Given the description of an element on the screen output the (x, y) to click on. 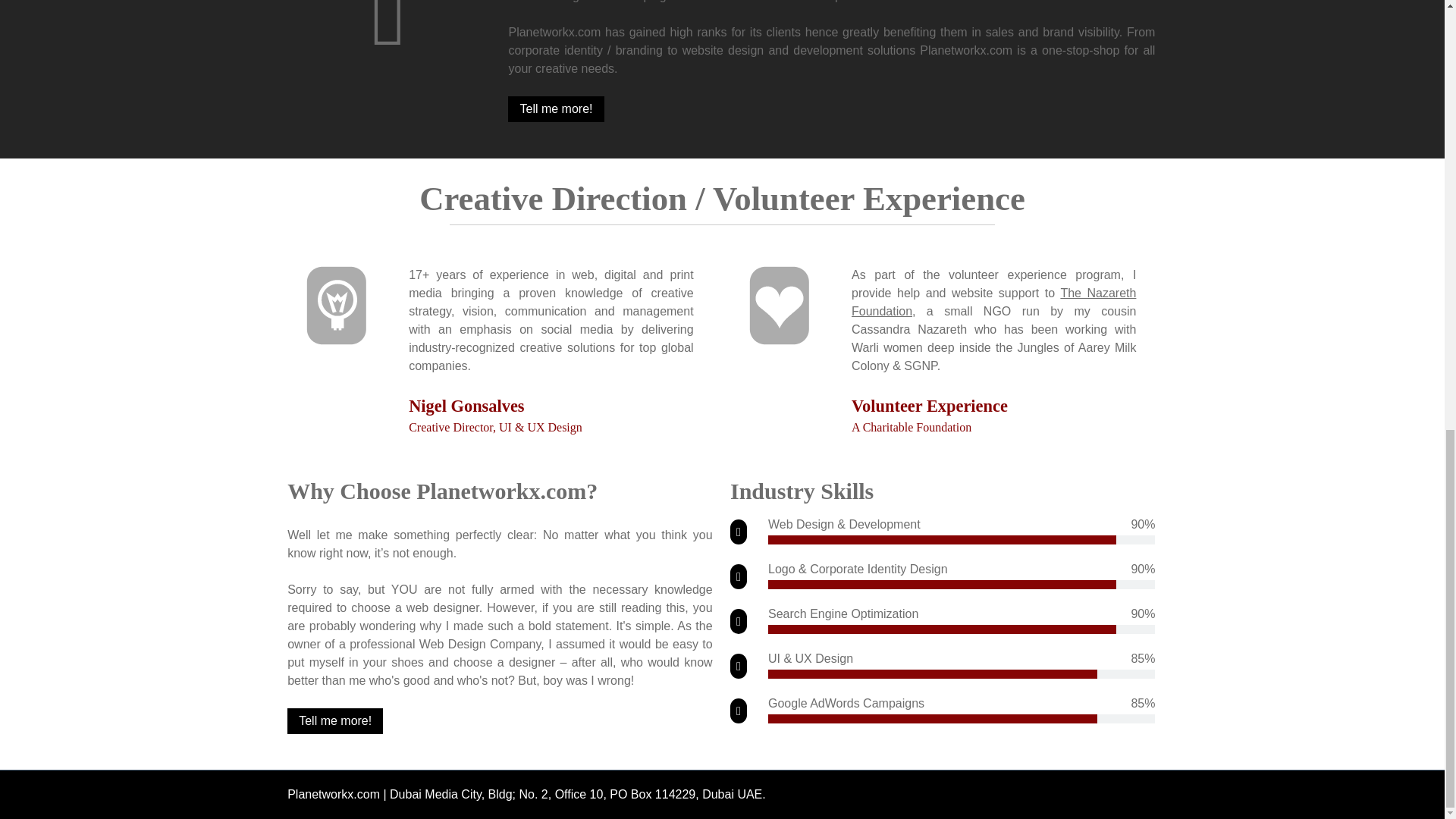
Tell me more! (334, 720)
Tell me more! (556, 109)
The Nazareth Foundation (993, 301)
